Given the description of an element on the screen output the (x, y) to click on. 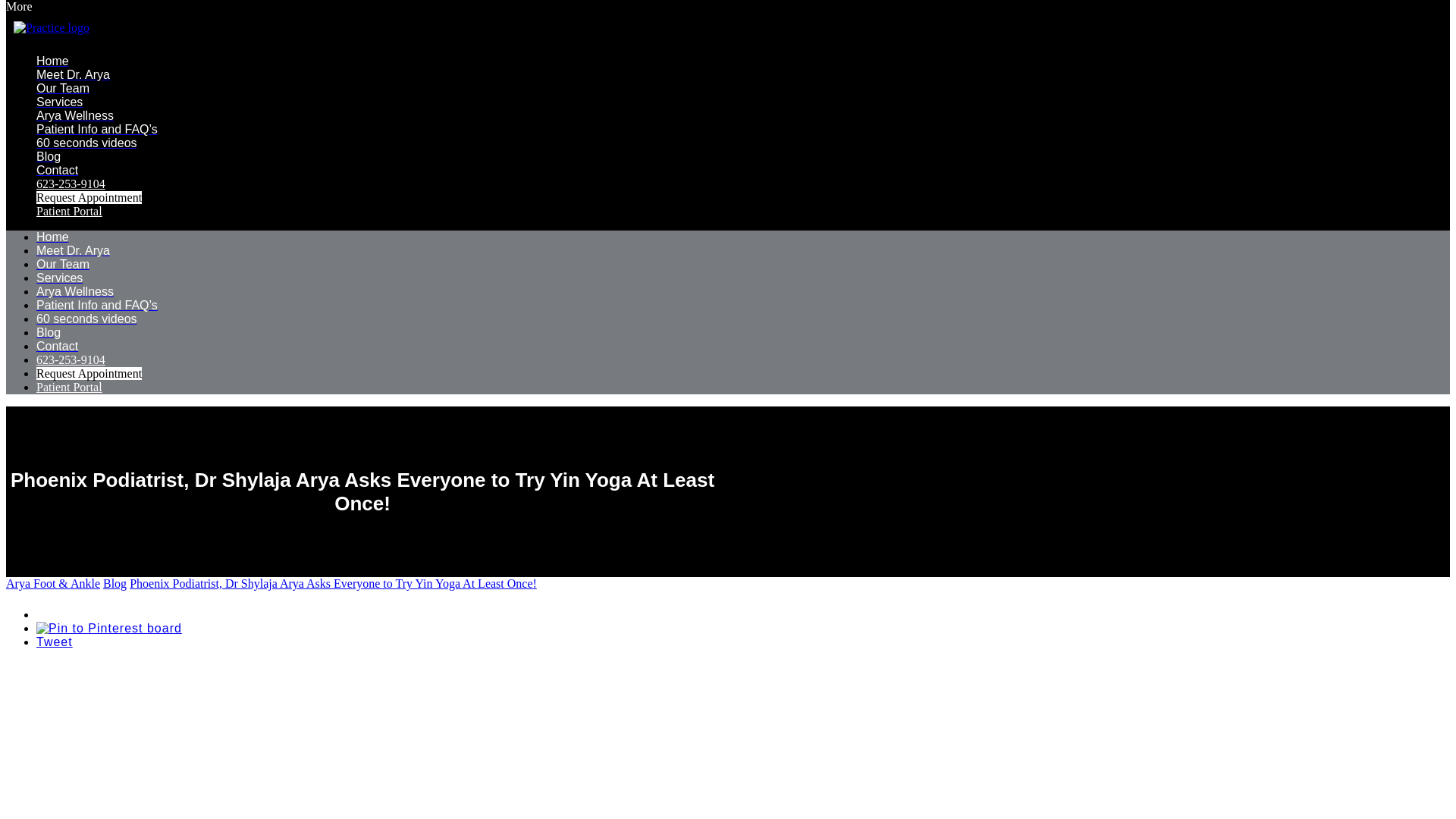
Home (52, 60)
Services (59, 101)
623-253-9104 (70, 183)
Home (52, 236)
Blog (48, 155)
Meet Dr. Arya (73, 74)
Our Team (62, 88)
Request Appointment (88, 196)
Arya Wellness (74, 115)
Patient Portal (68, 210)
60 seconds videos (86, 142)
Facebook social button (89, 610)
Contact (57, 169)
Services (59, 277)
Our Team (62, 264)
